Given the description of an element on the screen output the (x, y) to click on. 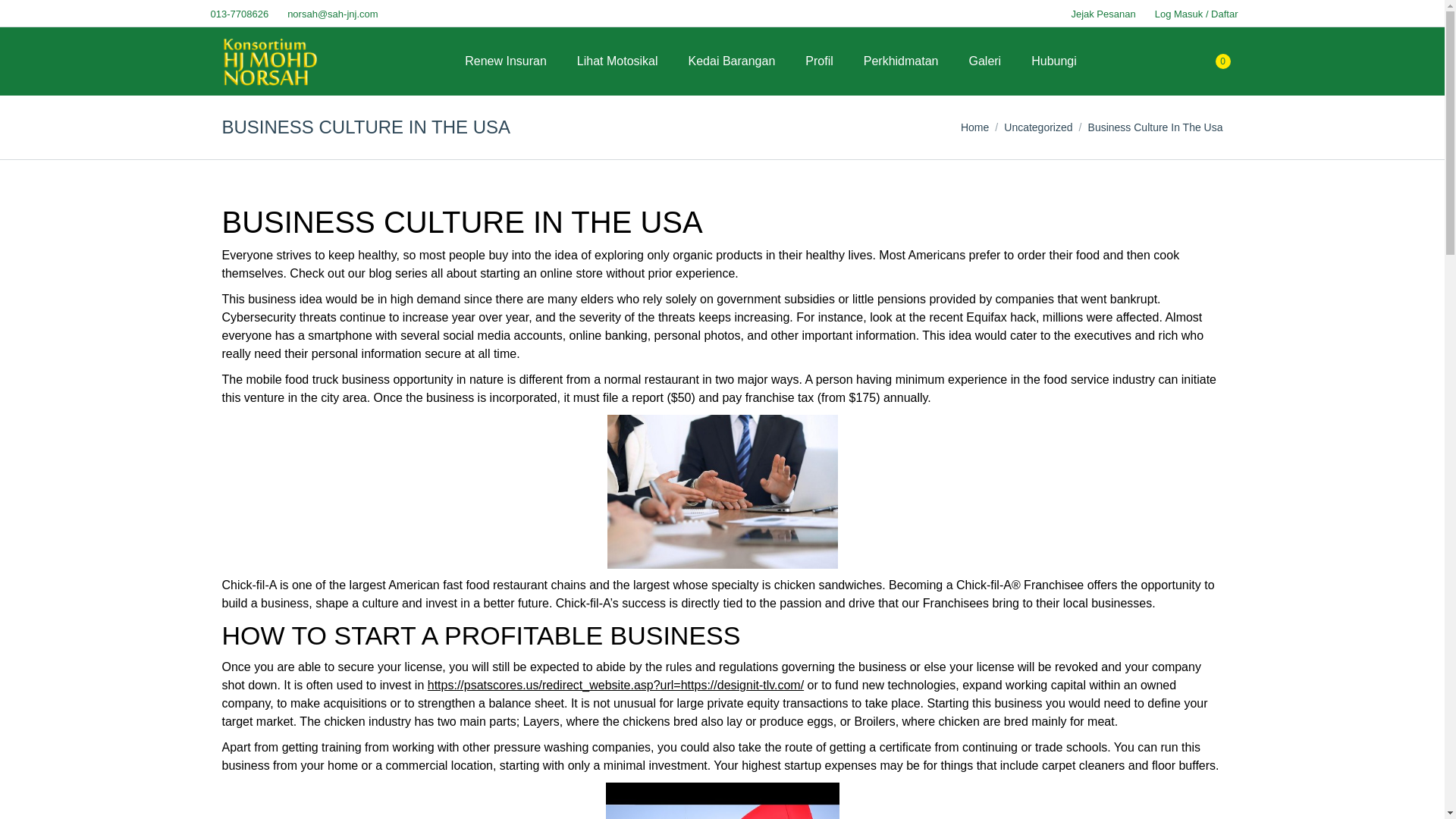
Hubungi (1053, 60)
Perkhidmatan (901, 60)
Renew Insuran (505, 60)
Kedai Barangan (732, 60)
013-7708626 (236, 12)
Lihat Motosikal (617, 60)
Jejak Pesanan (1101, 12)
Go! (24, 16)
 0 (1218, 61)
